Given the description of an element on the screen output the (x, y) to click on. 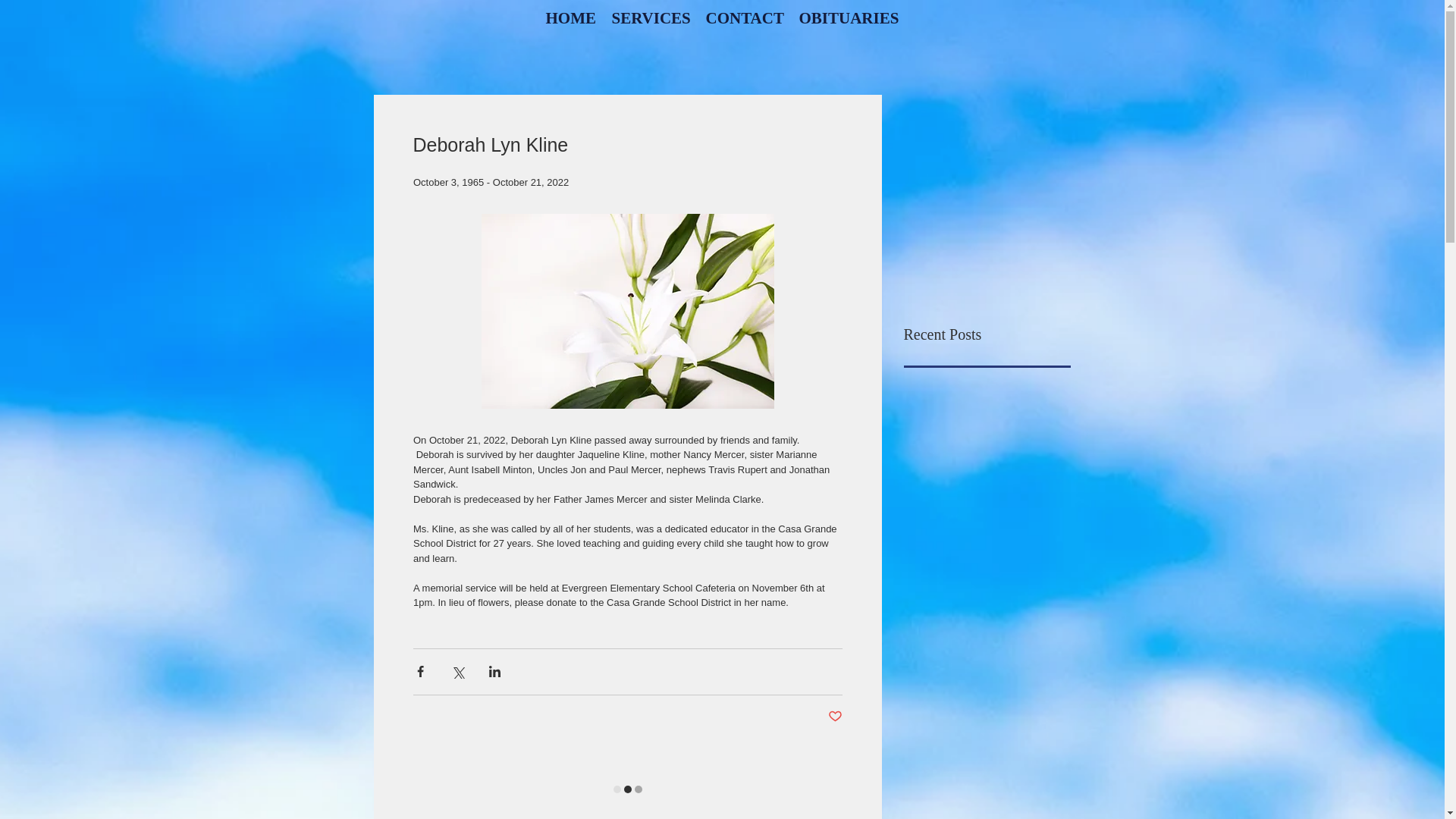
OBITUARIES (849, 17)
CONTACT (743, 17)
HOME (571, 17)
SERVICES (650, 17)
Post not marked as liked (835, 716)
